Given the description of an element on the screen output the (x, y) to click on. 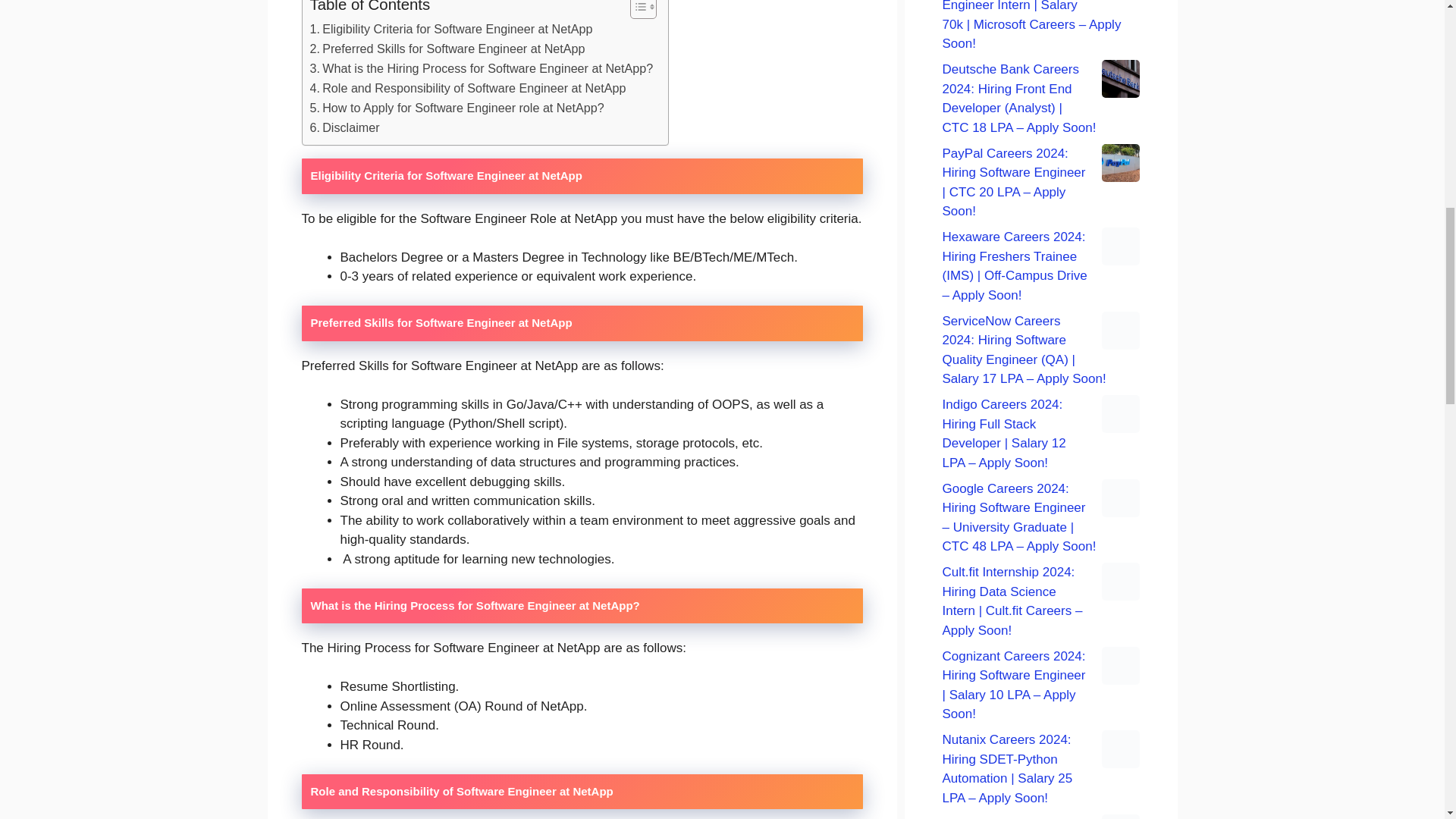
Disclaimer (343, 127)
What is the Hiring Process for Software Engineer at NetApp? (480, 68)
Eligibility Criteria for Software Engineer at NetApp (450, 29)
Eligibility Criteria for Software Engineer at NetApp (450, 29)
Preferred Skills for Software Engineer at NetApp (446, 48)
Role and Responsibility of Software Engineer at NetApp (467, 88)
Role and Responsibility of Software Engineer at NetApp (467, 88)
What is the Hiring Process for Software Engineer at NetApp? (480, 68)
Preferred Skills for Software Engineer at NetApp (446, 48)
How to Apply for Software Engineer role at NetApp? (456, 107)
Disclaimer (343, 127)
How to Apply for Software Engineer role at NetApp? (456, 107)
